Given the description of an element on the screen output the (x, y) to click on. 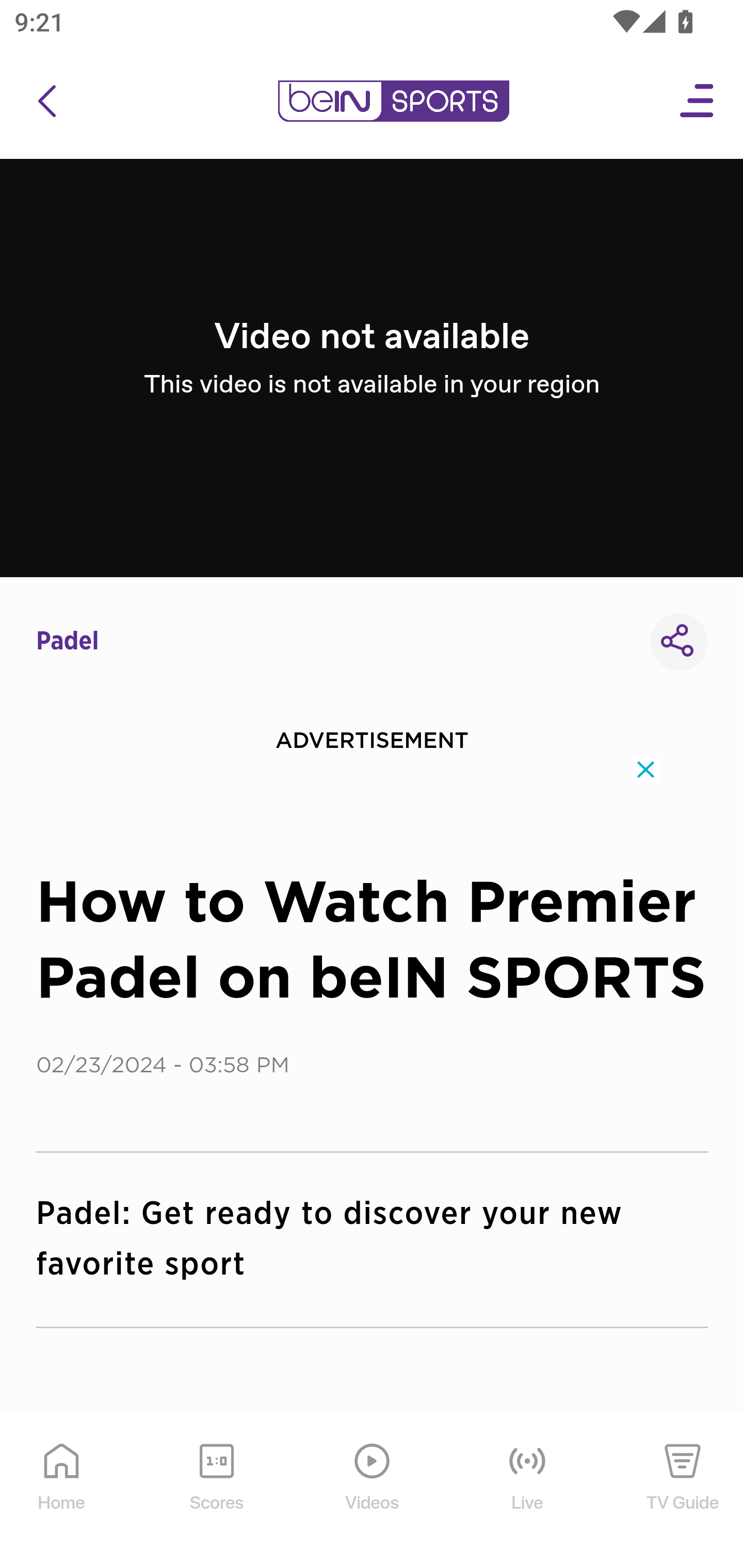
en-us?platform=mobile_android bein logo (392, 101)
icon back (46, 101)
Open Menu Icon (697, 101)
Home Home Icon Home (61, 1491)
Scores Scores Icon Scores (216, 1491)
Videos Videos Icon Videos (372, 1491)
TV Guide TV Guide Icon TV Guide (682, 1491)
